Given the description of an element on the screen output the (x, y) to click on. 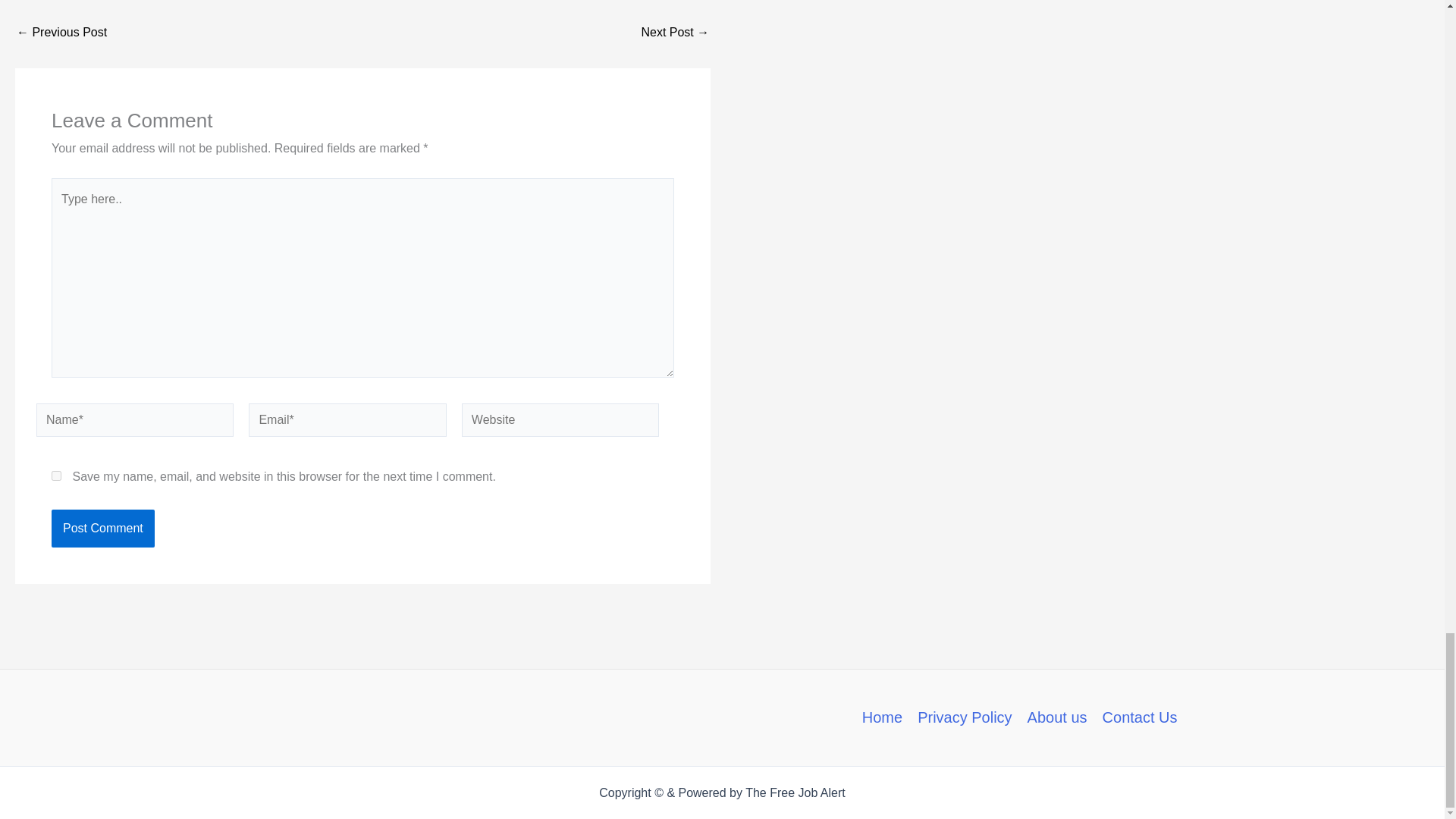
yes (55, 475)
Post Comment (102, 528)
Post Comment (102, 528)
